Given the description of an element on the screen output the (x, y) to click on. 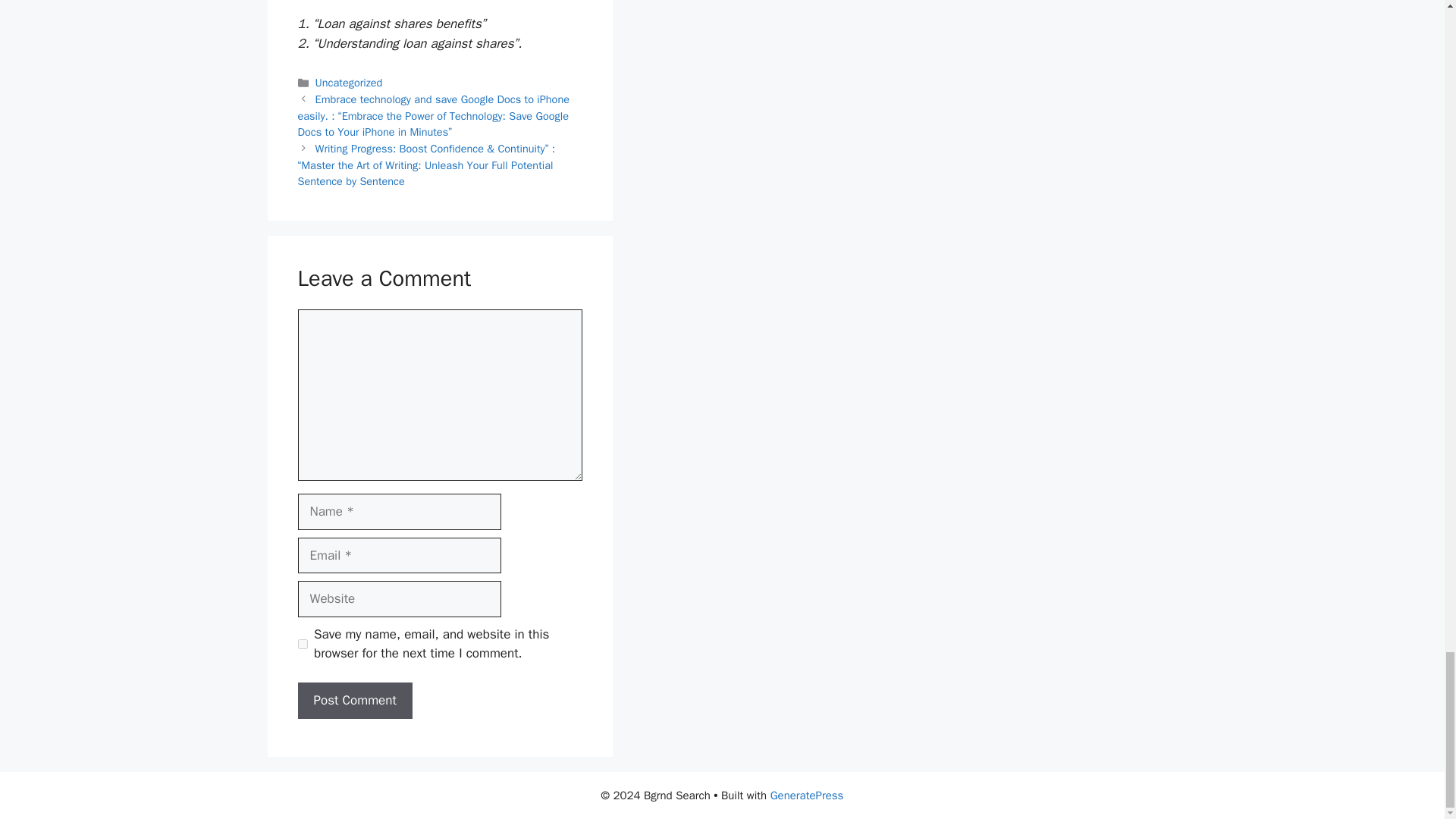
Post Comment (354, 700)
Post Comment (354, 700)
Uncategorized (348, 82)
yes (302, 644)
GeneratePress (807, 795)
